Given the description of an element on the screen output the (x, y) to click on. 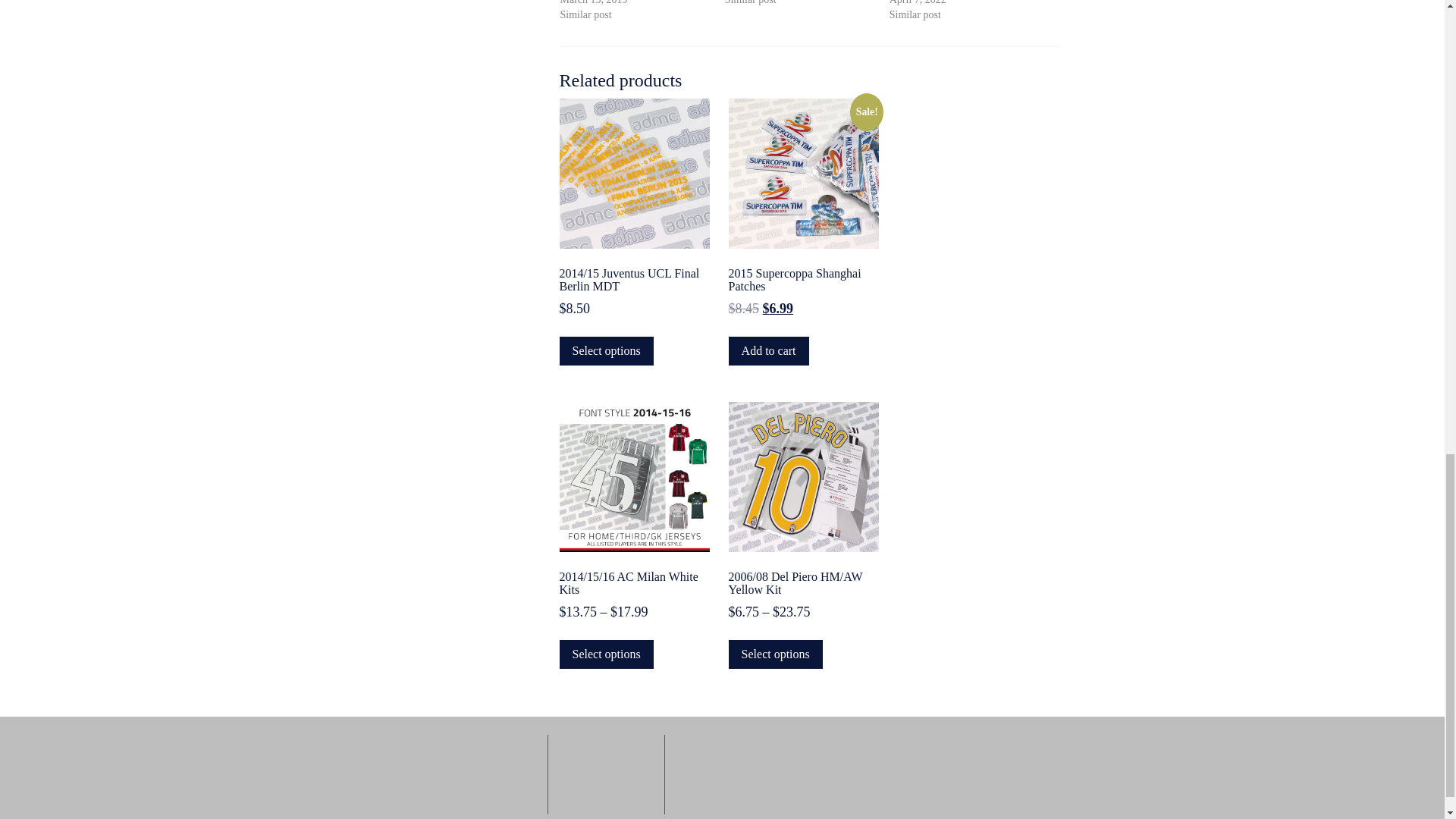
Select options (606, 654)
Add to cart (769, 350)
Select options (606, 350)
